Given the description of an element on the screen output the (x, y) to click on. 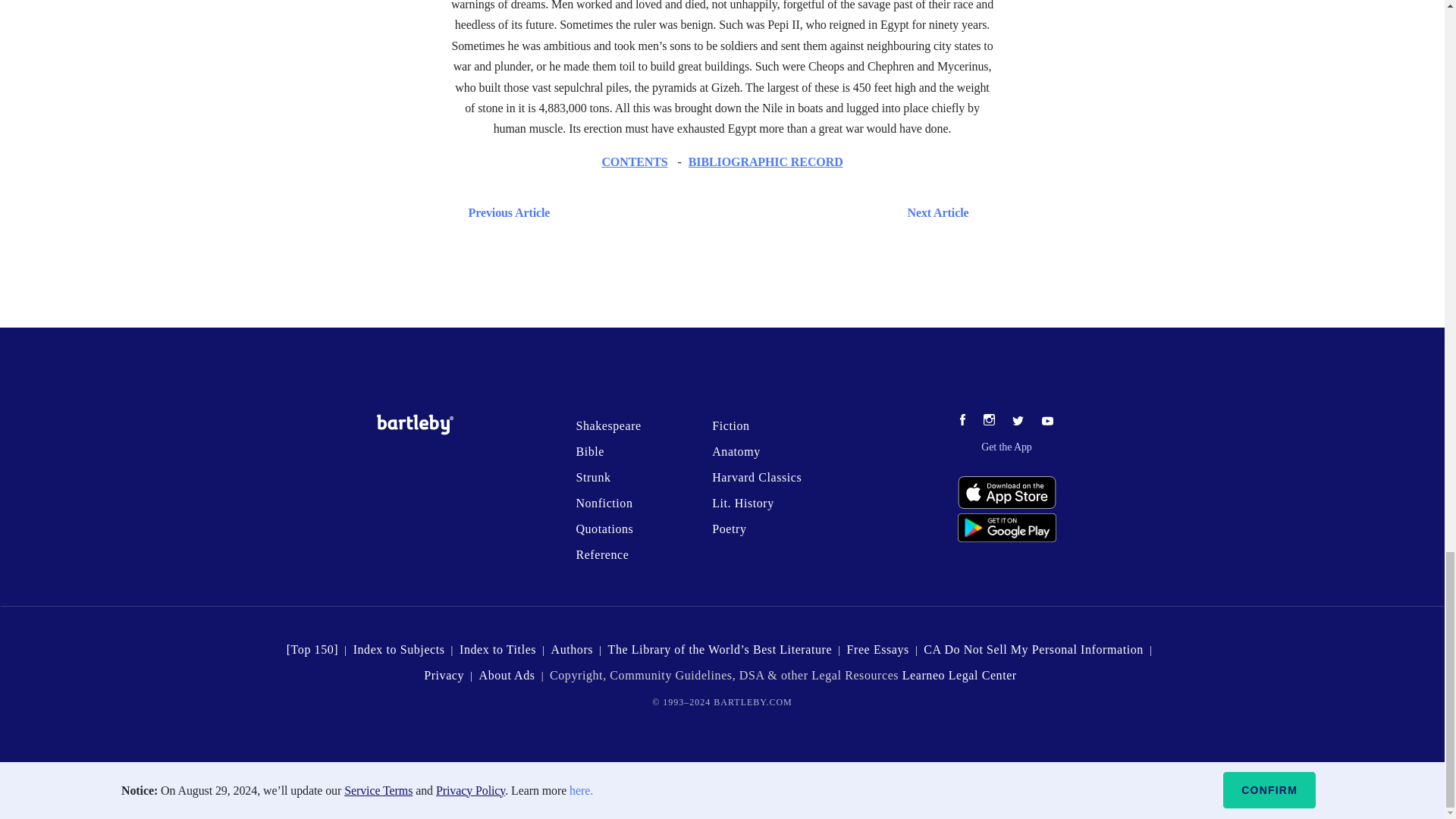
Bible (589, 451)
Next Article (766, 212)
Fiction (730, 425)
Harvard Classics (756, 477)
Shakespeare (607, 425)
Nonfiction (603, 502)
Reference (601, 554)
CONTENTS (633, 161)
BIBLIOGRAPHIC RECORD (765, 161)
Anatomy (735, 451)
